Given the description of an element on the screen output the (x, y) to click on. 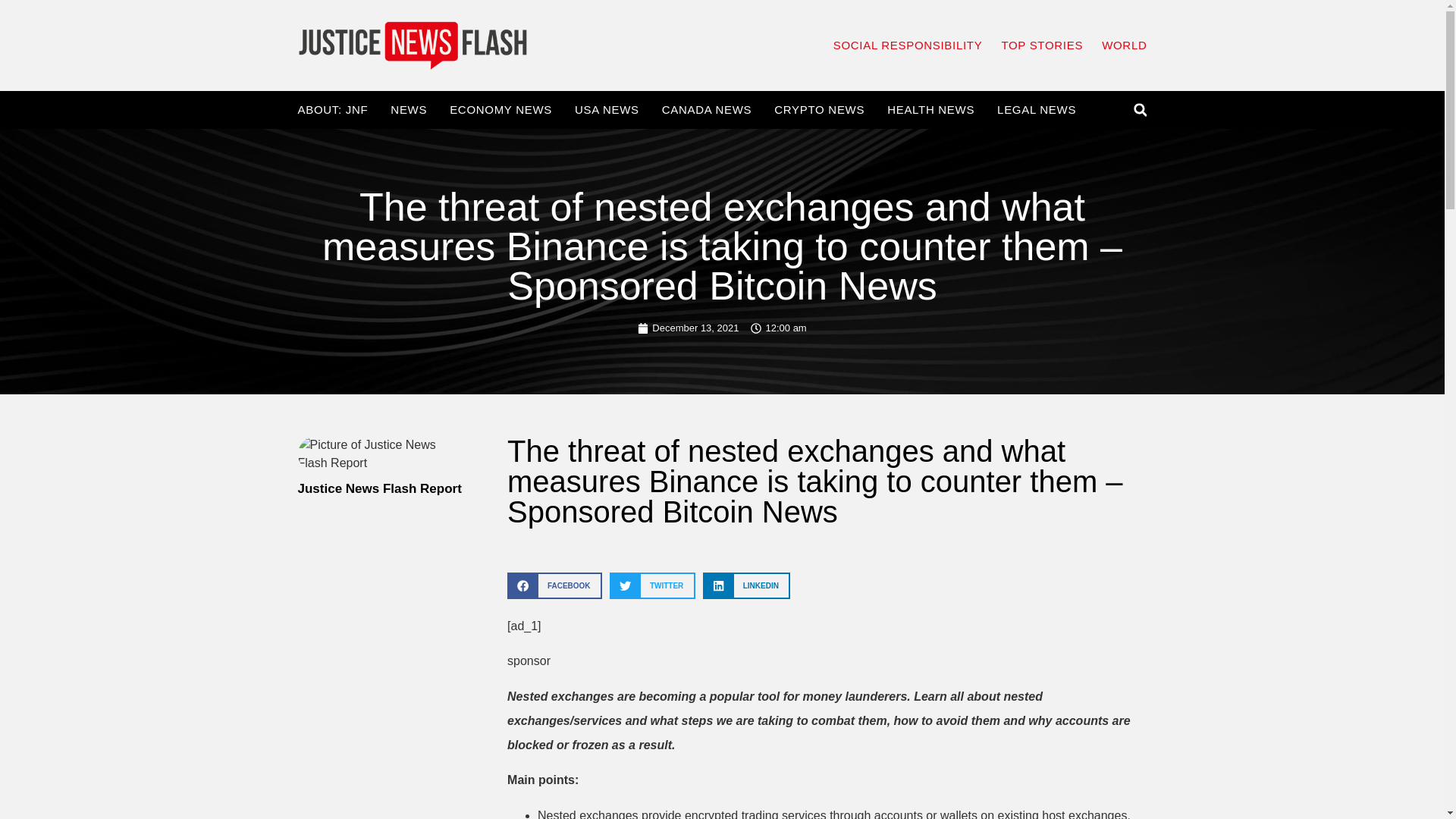
WORLD (1124, 45)
ECONOMY NEWS (500, 109)
ABOUT: JNF (332, 109)
CANADA NEWS (706, 109)
TOP STORIES (1042, 45)
CRYPTO NEWS (819, 109)
December 13, 2021 (687, 328)
NEWS (407, 109)
HEALTH NEWS (930, 109)
SOCIAL RESPONSIBILITY (907, 45)
